Given the description of an element on the screen output the (x, y) to click on. 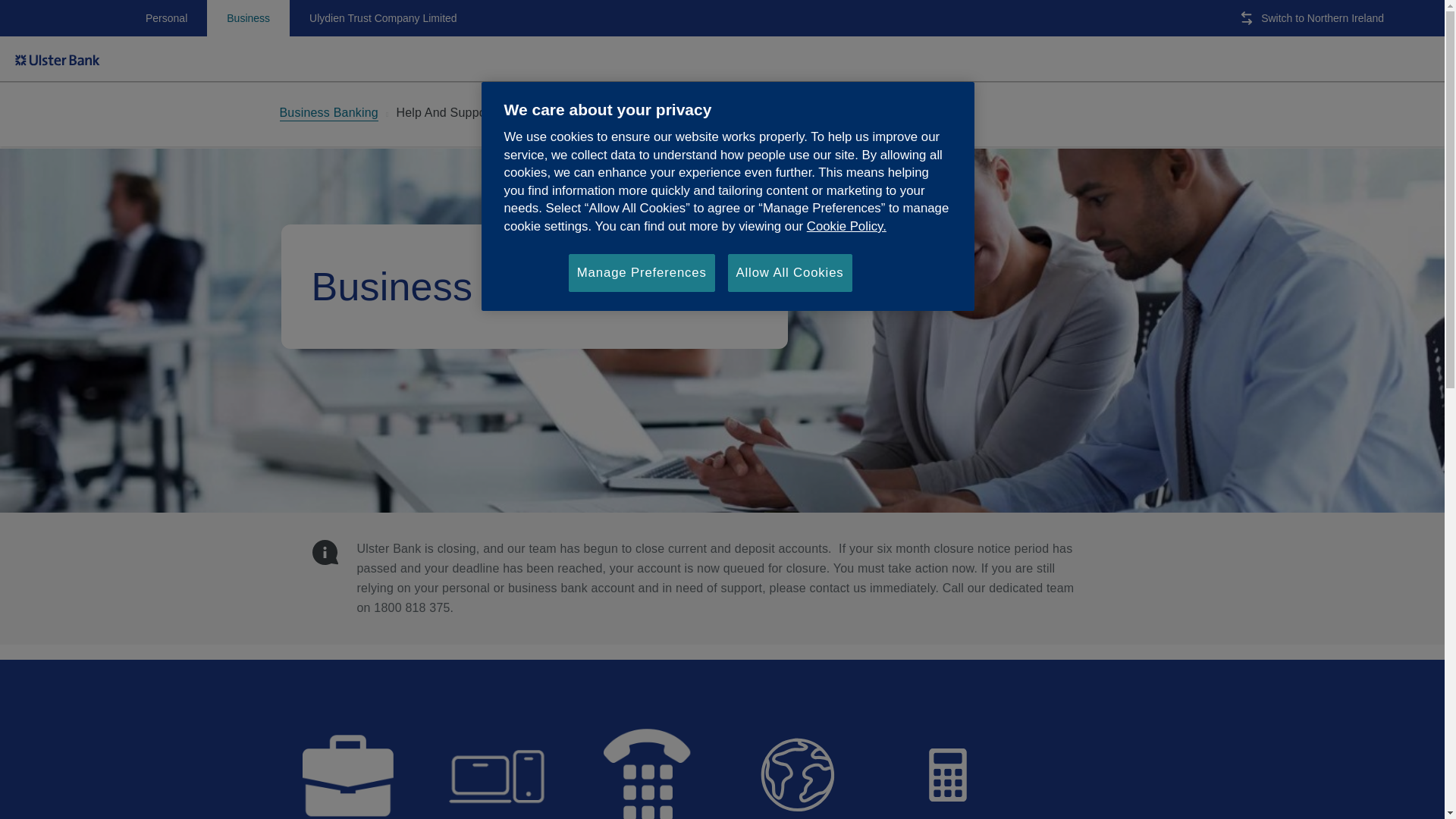
Business (247, 18)
Help And Support (444, 115)
Cookie Policy. (846, 226)
Allow All Cookies (789, 272)
Help And Support (444, 115)
Ulydien Trust Company Limited (383, 18)
Ulster Bank Logo (57, 58)
Business Banking (328, 114)
Business Customer Closure Support Hub (606, 115)
Business Banking (328, 114)
Personal (165, 18)
Manage Preferences (641, 272)
Switch to Northern Ireland (1316, 18)
Business Customer Closure Support Hub (606, 115)
